Given the description of an element on the screen output the (x, y) to click on. 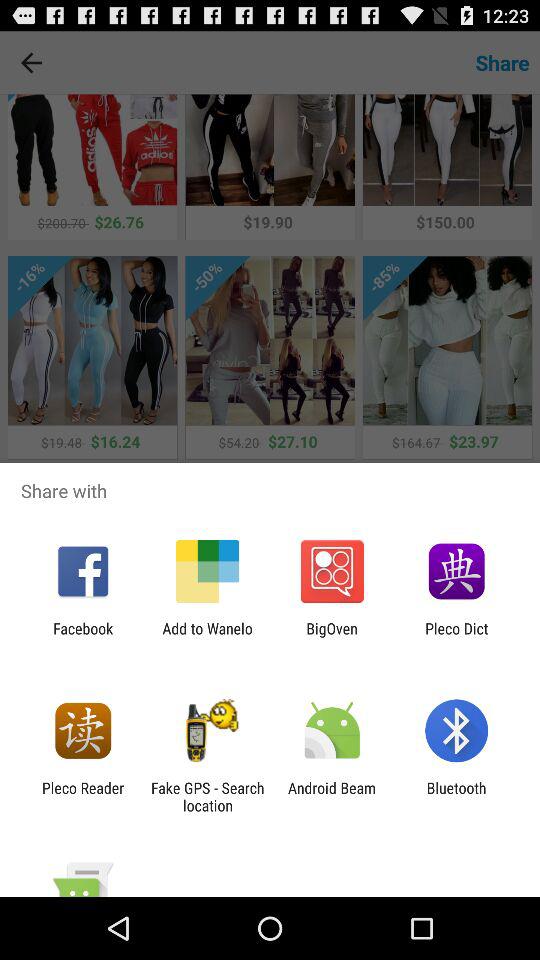
select the app to the left of the add to wanelo item (83, 637)
